Given the description of an element on the screen output the (x, y) to click on. 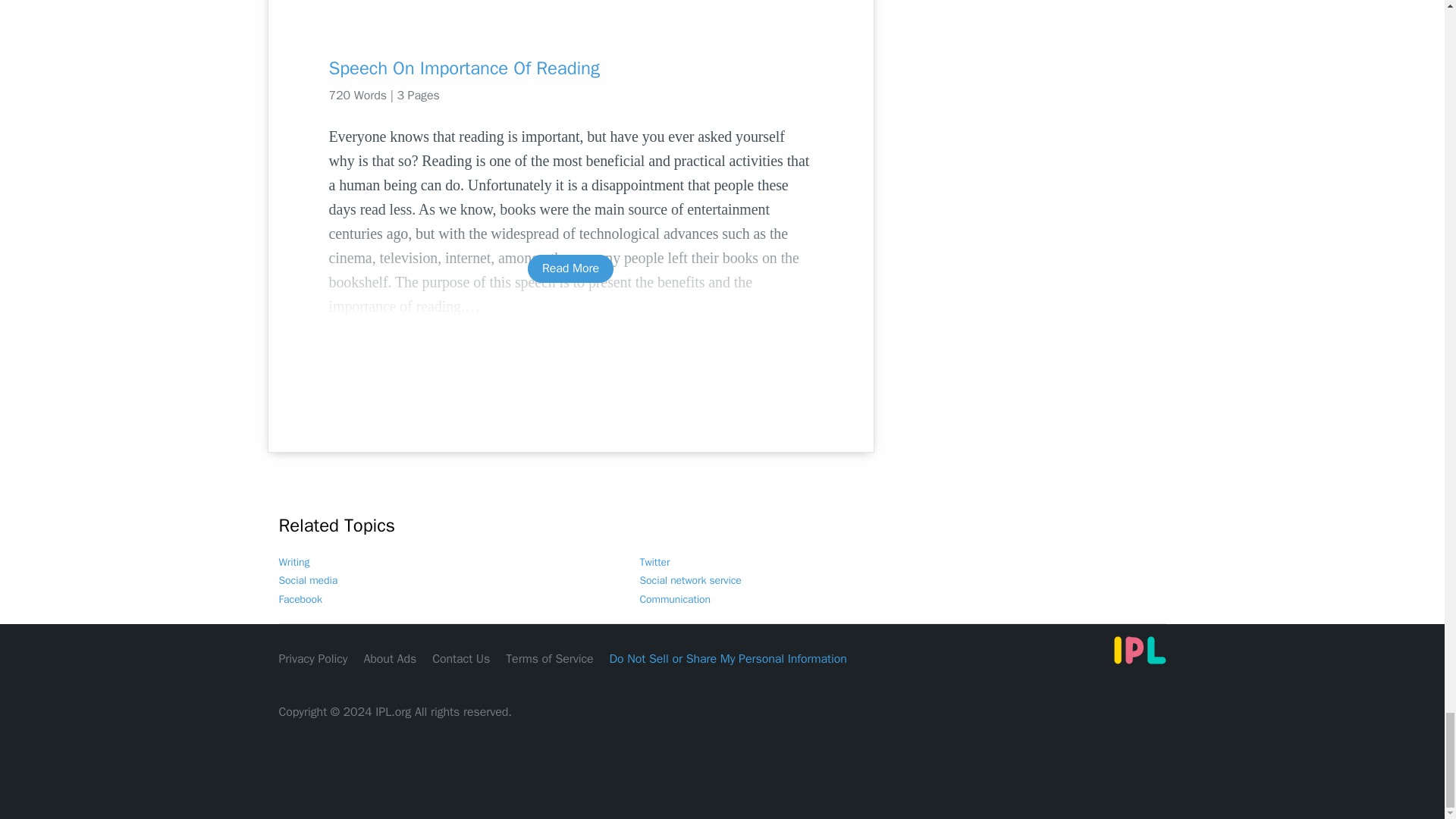
About Ads (389, 658)
Contact Us (460, 658)
Twitter (654, 562)
Terms of Service (548, 658)
Writing (294, 562)
Social network service (690, 580)
Privacy Policy (313, 658)
Facebook (300, 599)
Social media (308, 580)
Communication (675, 599)
